Given the description of an element on the screen output the (x, y) to click on. 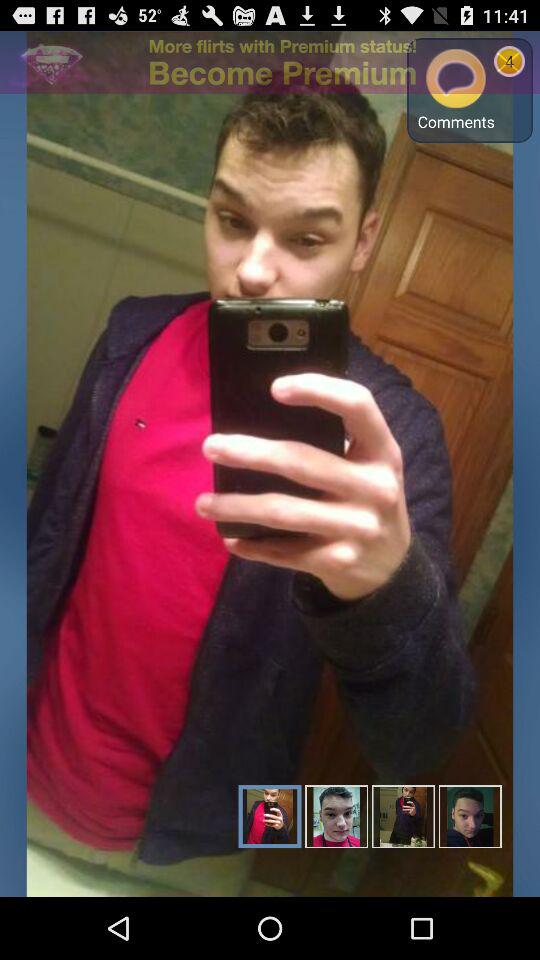
swipe until the comments button (456, 90)
